Given the description of an element on the screen output the (x, y) to click on. 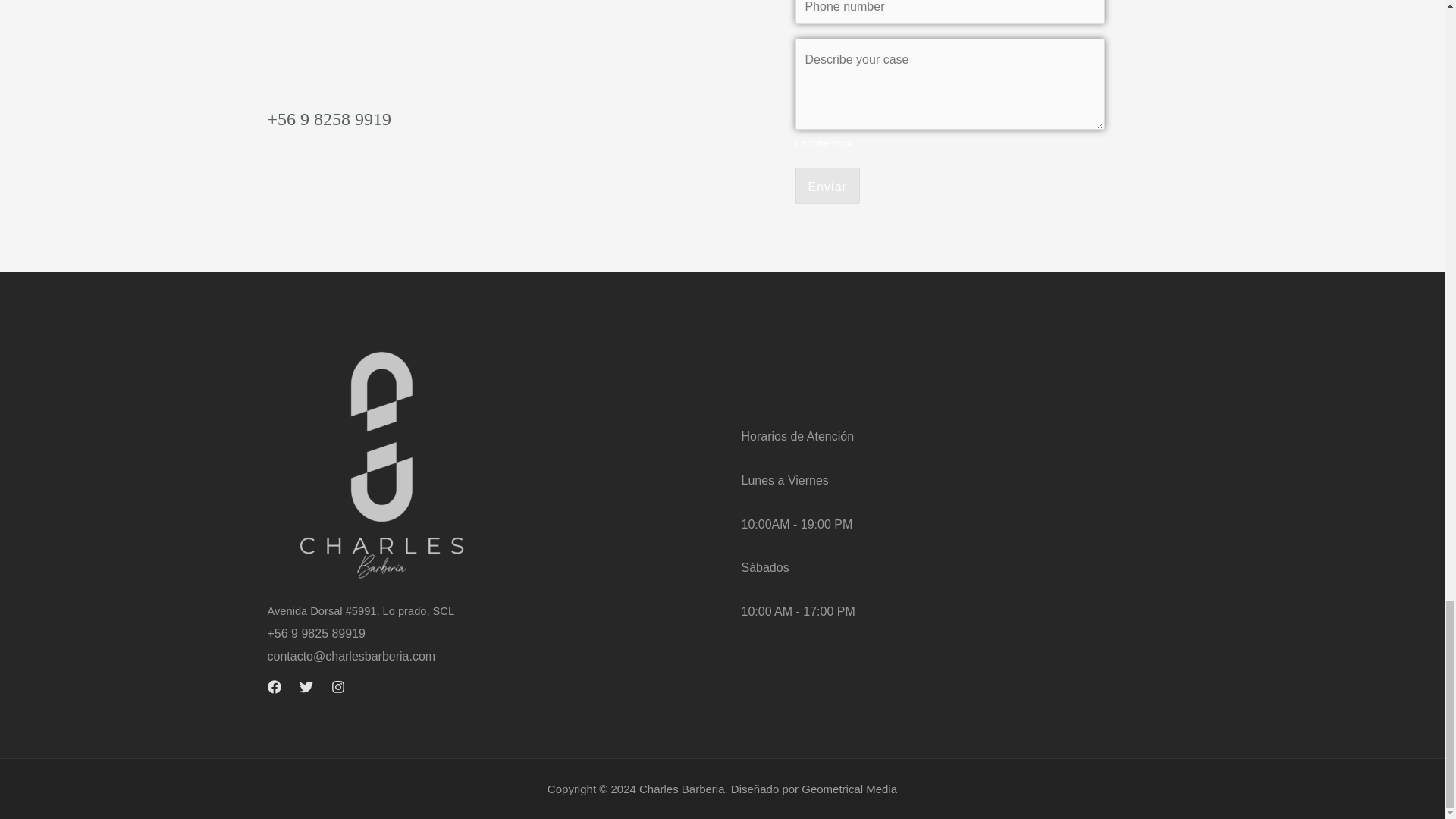
Enviar (826, 185)
